Given the description of an element on the screen output the (x, y) to click on. 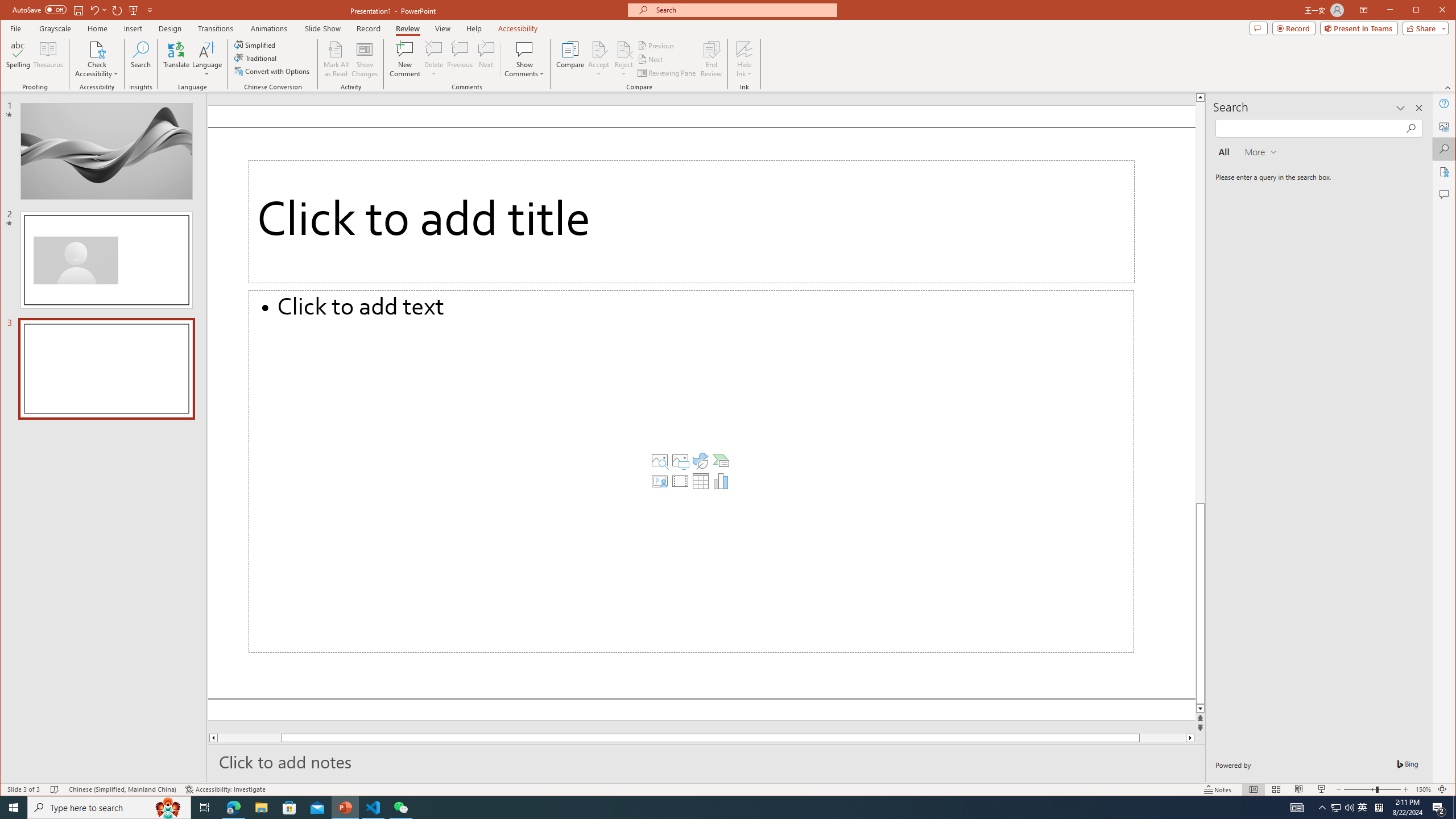
Content Placeholder (691, 470)
